Given the description of an element on the screen output the (x, y) to click on. 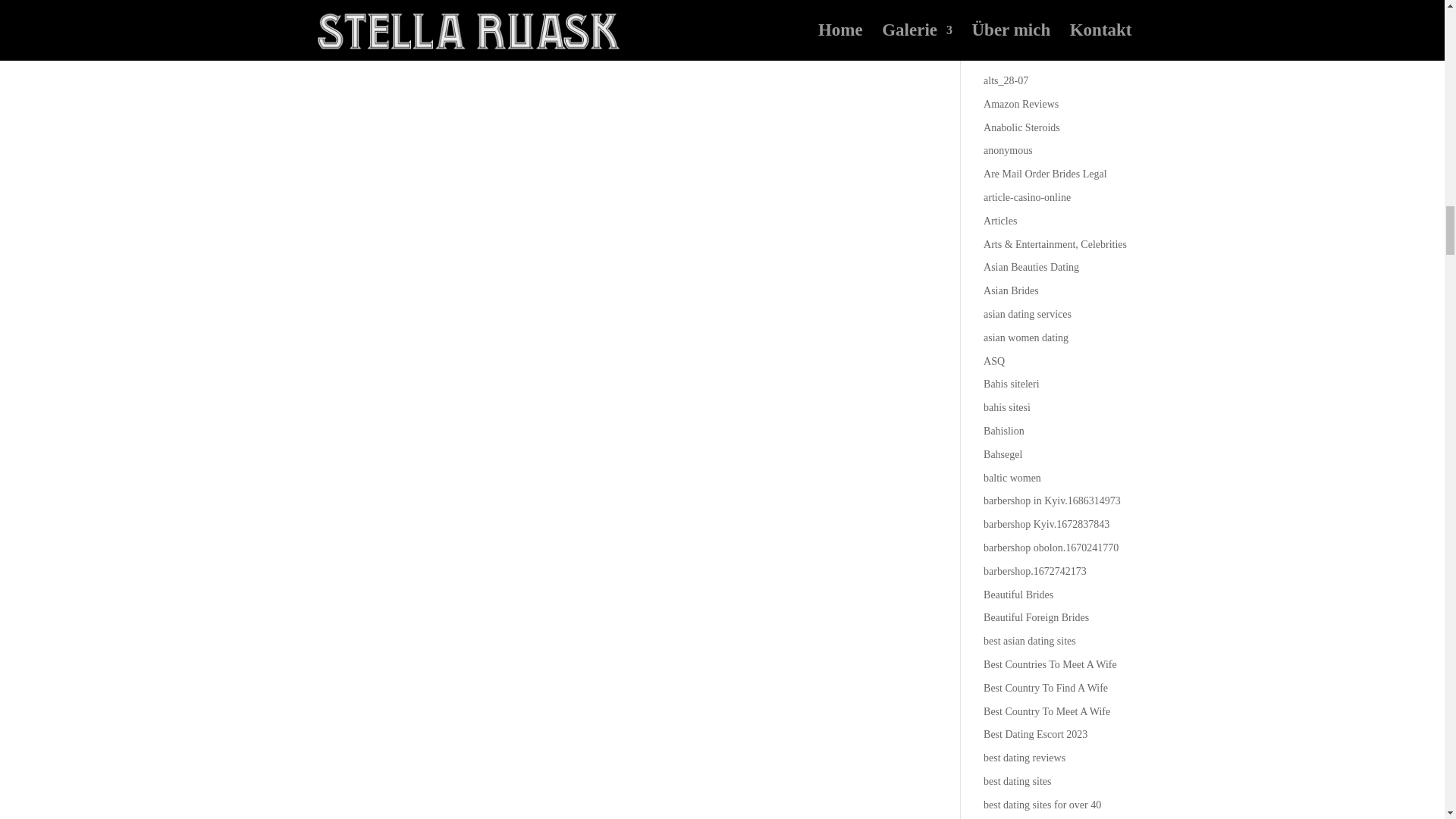
anonymous (1008, 150)
